Given the description of an element on the screen output the (x, y) to click on. 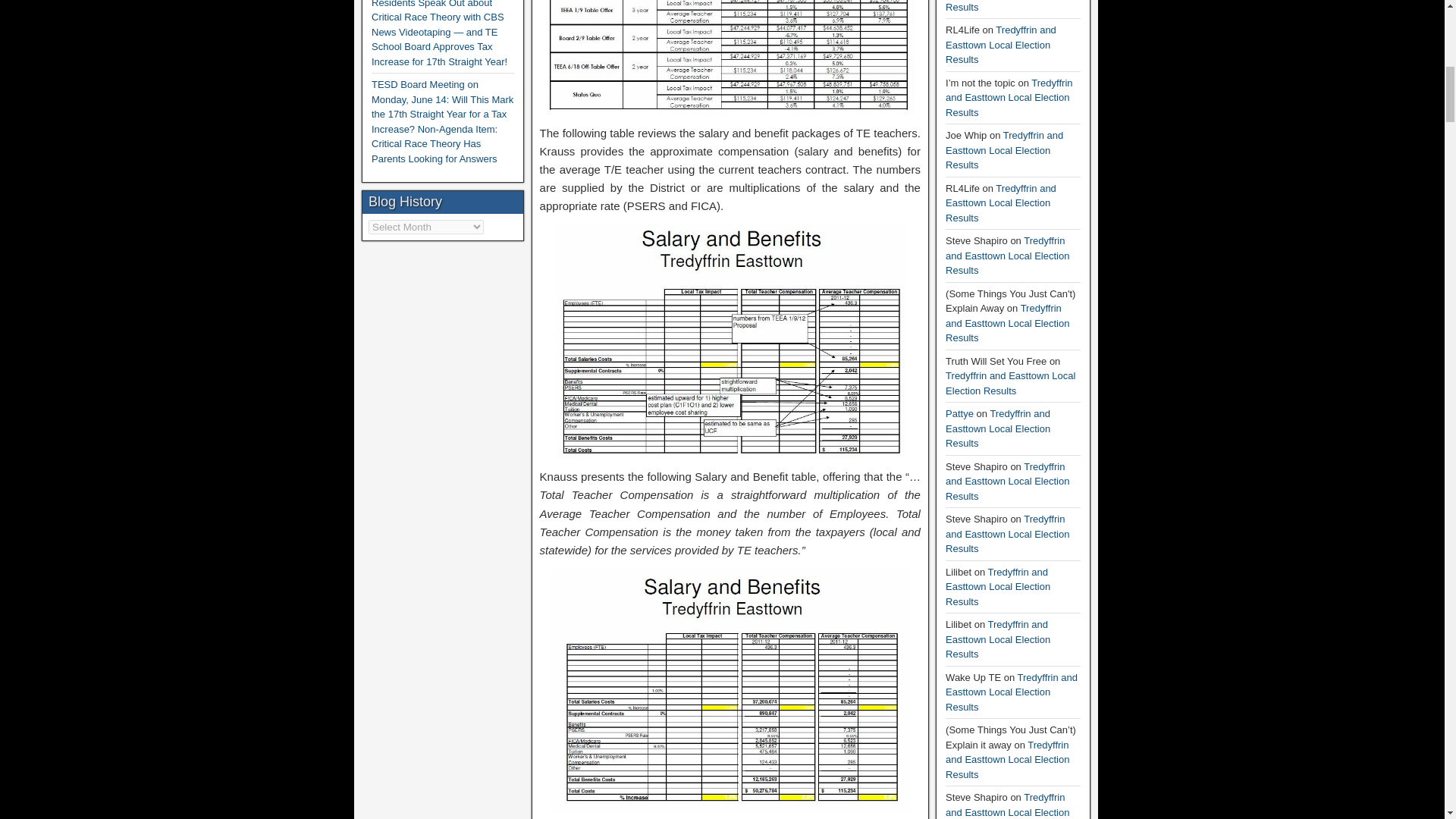
Knauss 1 (729, 57)
Knauss 3 (730, 691)
Knauss 2 (729, 341)
